Given the description of an element on the screen output the (x, y) to click on. 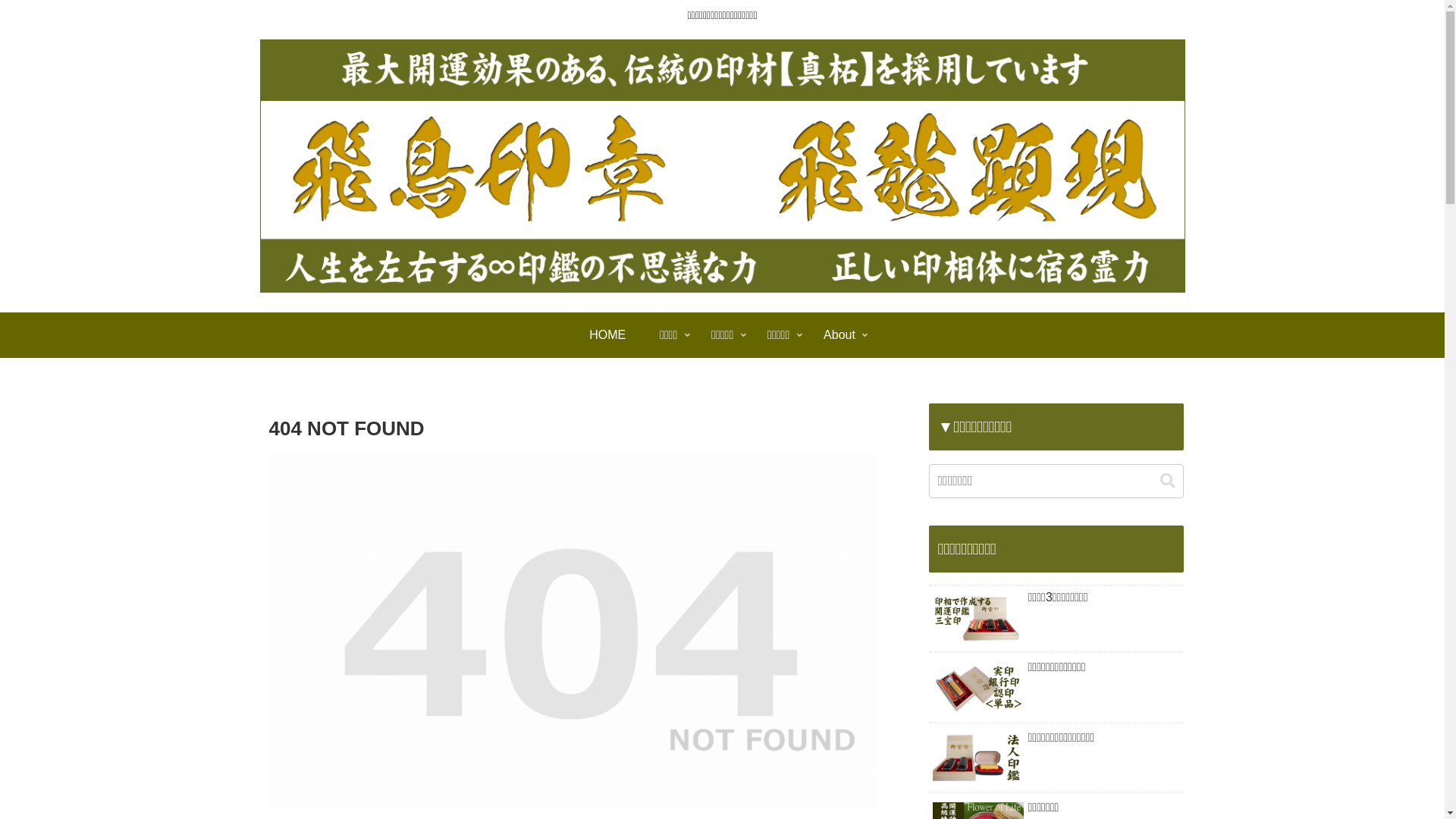
About Element type: text (839, 334)
HOME Element type: text (607, 334)
